Given the description of an element on the screen output the (x, y) to click on. 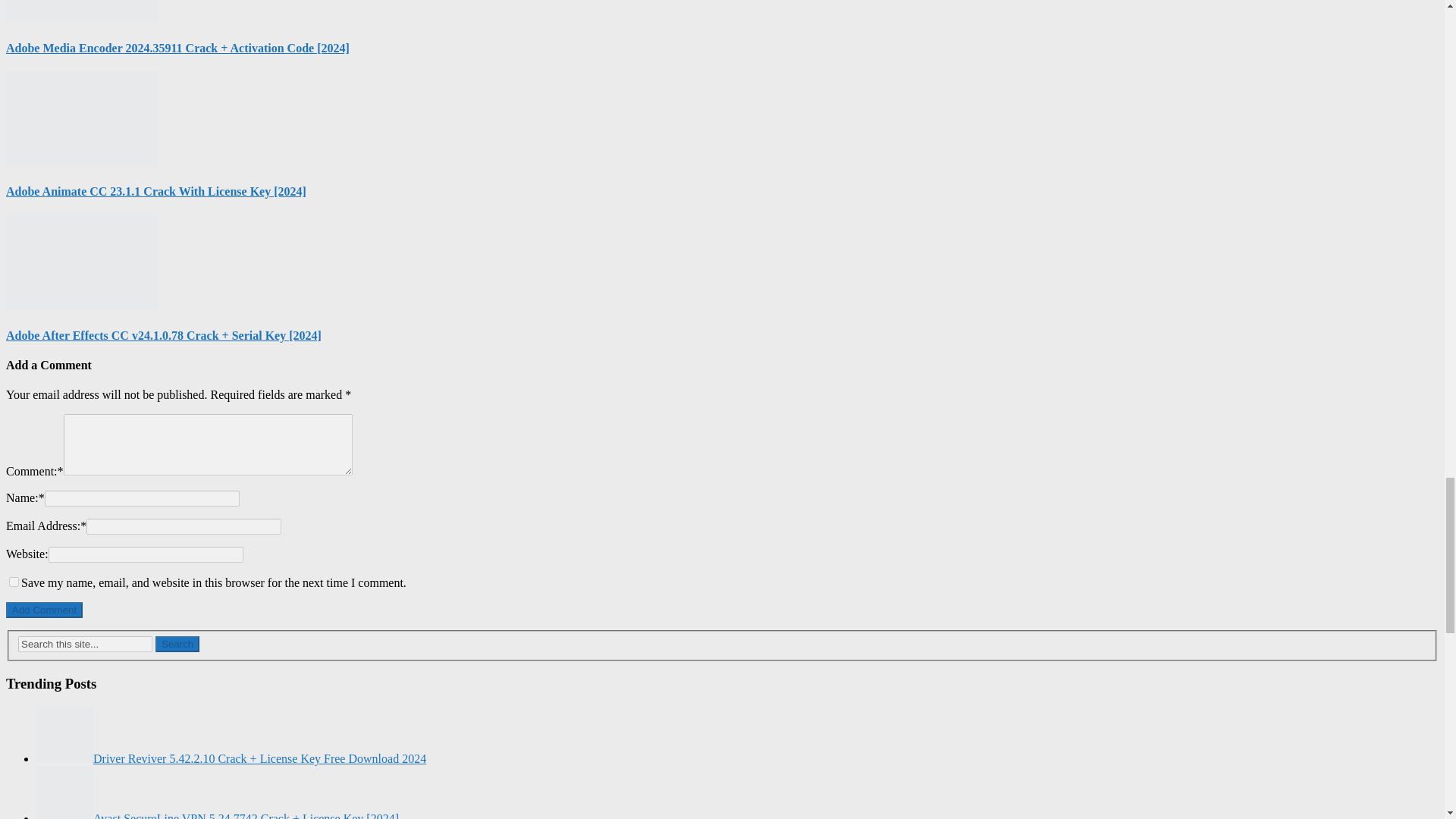
Search (177, 643)
Add Comment (43, 609)
yes (13, 582)
Search this site... (84, 643)
